Given the description of an element on the screen output the (x, y) to click on. 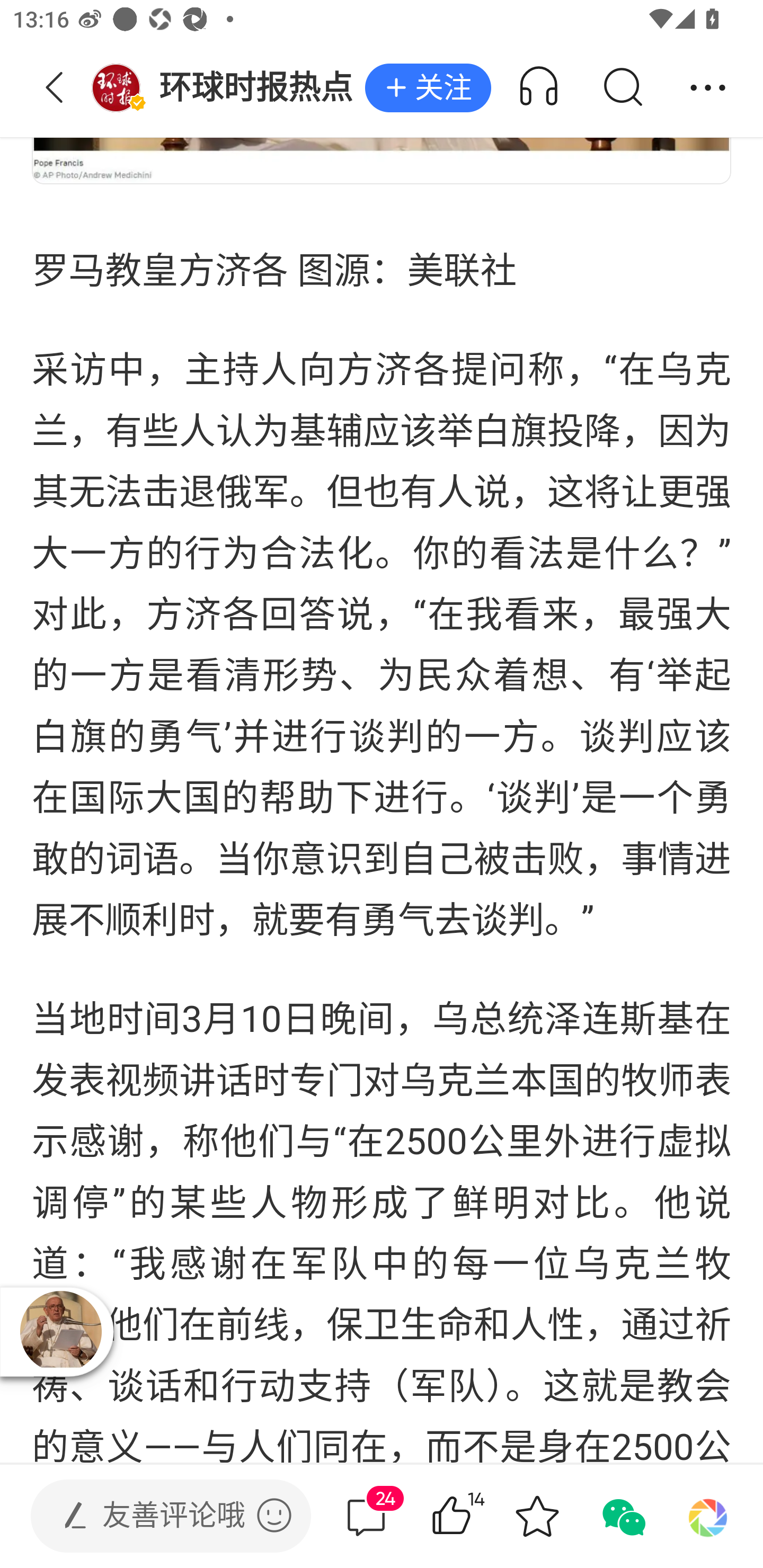
环球时报热点 (227, 87)
搜索  (622, 87)
分享  (707, 87)
 返回 (54, 87)
 关注 (427, 88)
播放器 (60, 1331)
发表评论  友善评论哦 发表评论  (155, 1516)
24评论  24 评论 (365, 1516)
14赞 (476, 1516)
收藏  (536, 1516)
分享到微信  (622, 1516)
分享到朋友圈 (707, 1516)
 (274, 1515)
